Given the description of an element on the screen output the (x, y) to click on. 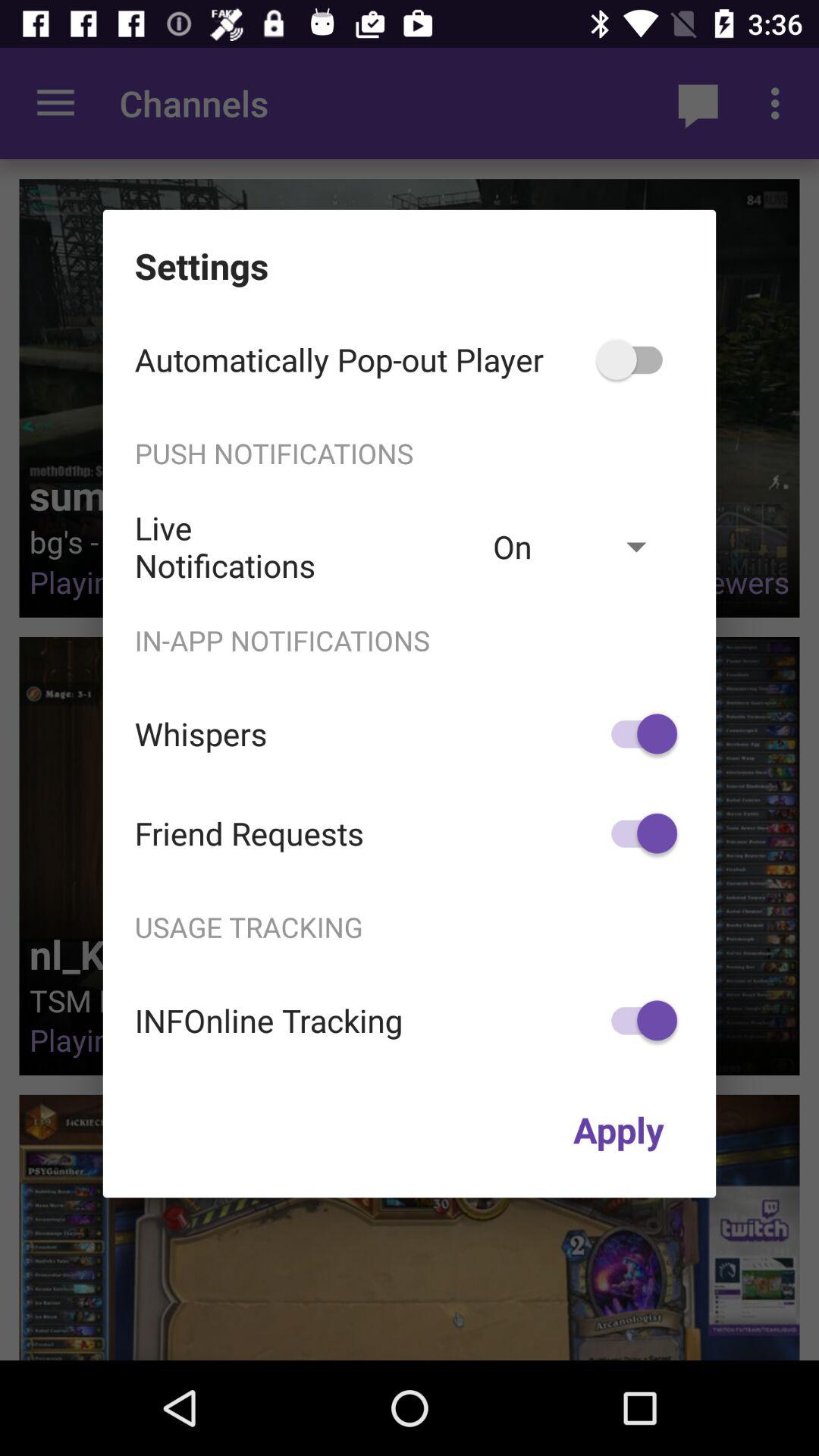
press icon above push notifications (636, 359)
